Given the description of an element on the screen output the (x, y) to click on. 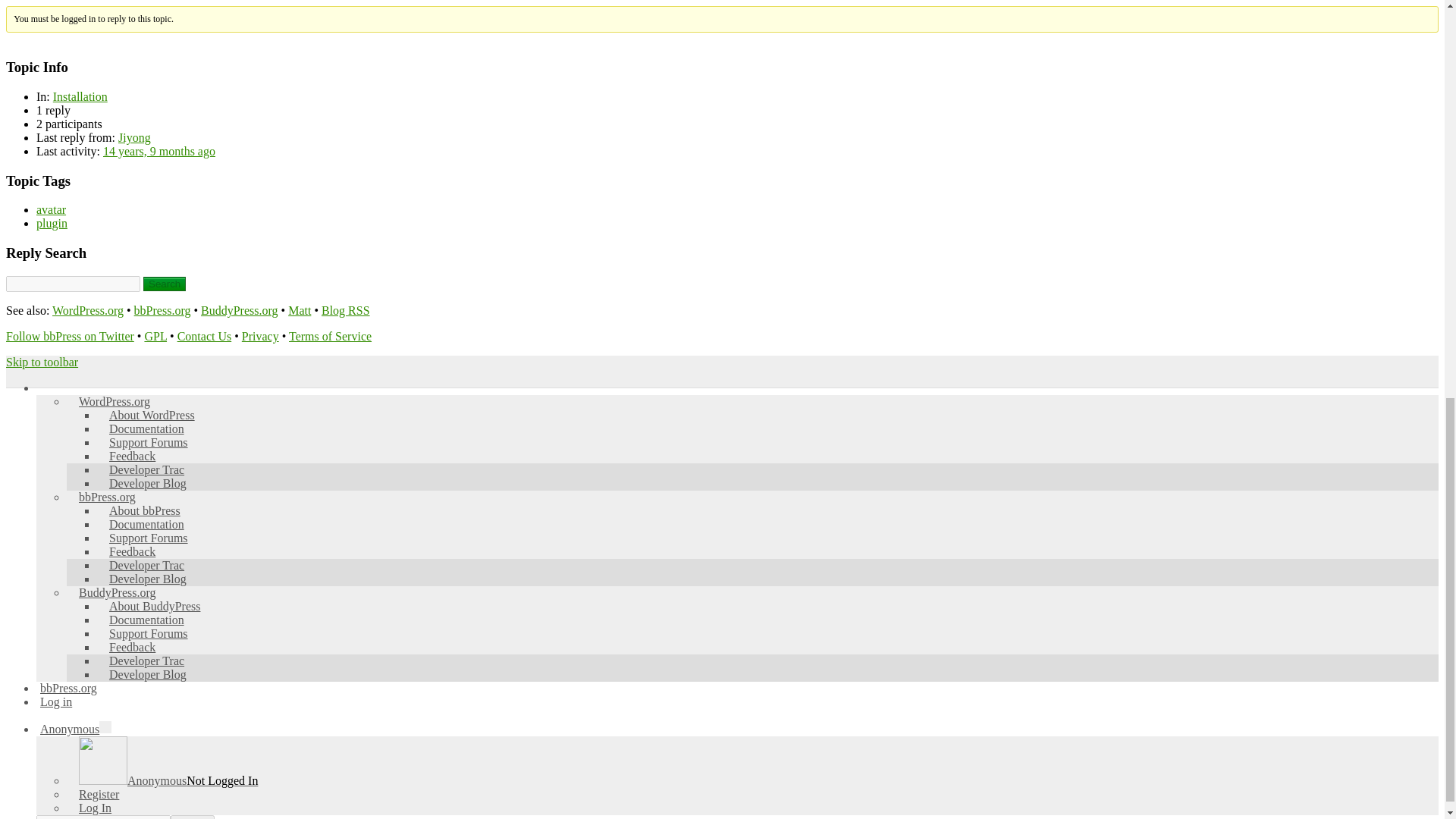
Contact Us (204, 336)
Terms of Service (329, 336)
BuddyPress.org (239, 309)
Matt (299, 309)
plugin (51, 223)
WordPress.org (120, 400)
WordPress.org (87, 309)
14 years, 9 months ago (159, 151)
Jiyong (134, 137)
About WordPress (158, 414)
Blog RSS (345, 309)
Follow bbPress on Twitter (69, 336)
Search (164, 283)
GPL (155, 336)
Skip to toolbar (41, 361)
